Given the description of an element on the screen output the (x, y) to click on. 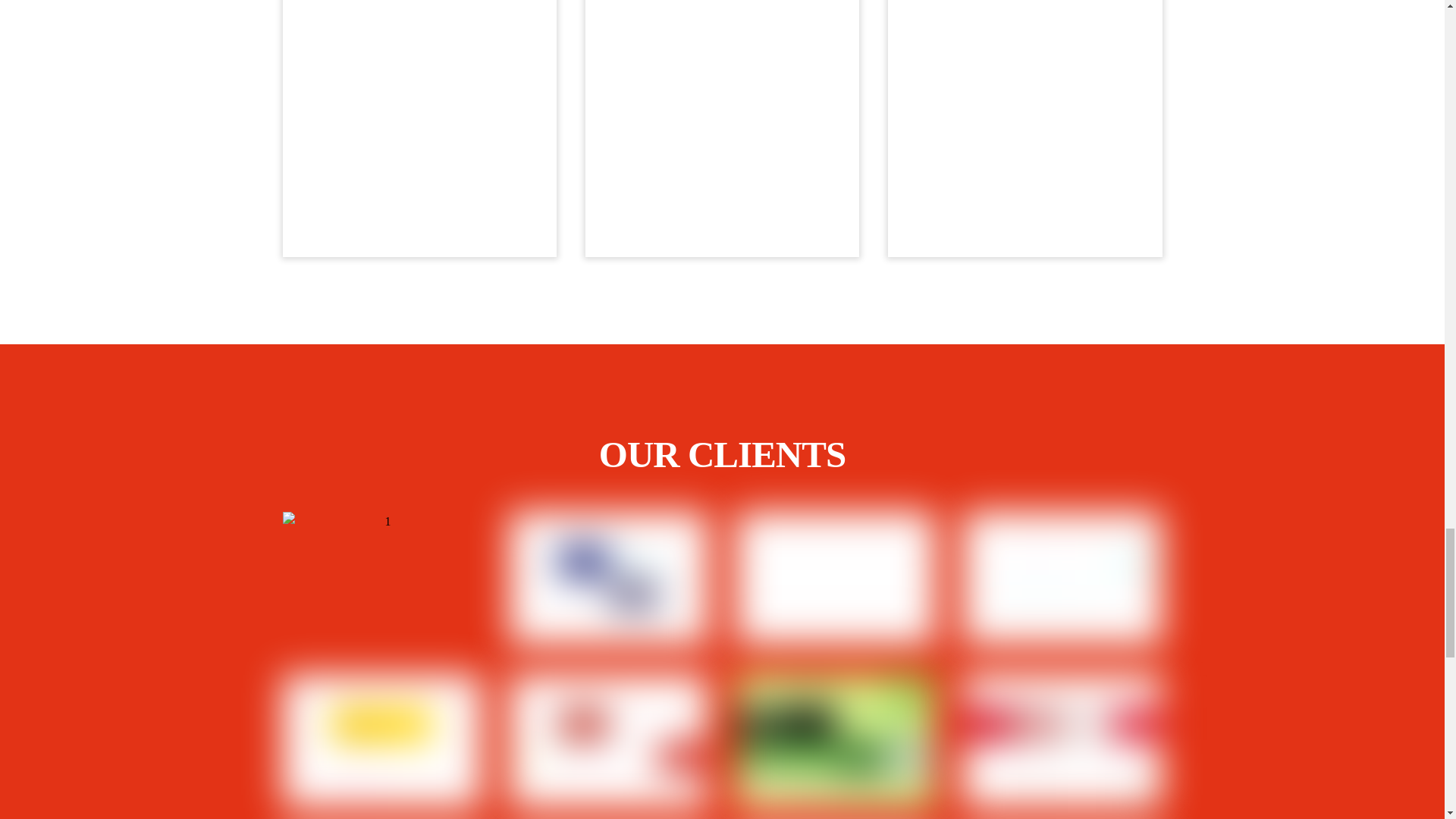
ISO-45000 (1024, 128)
6 (608, 740)
3 (835, 577)
5 (381, 740)
2 (608, 577)
8 (1061, 740)
7 (835, 740)
ISO-2009-15 (419, 128)
4 (1061, 577)
ISO-14001 (722, 128)
